Given the description of an element on the screen output the (x, y) to click on. 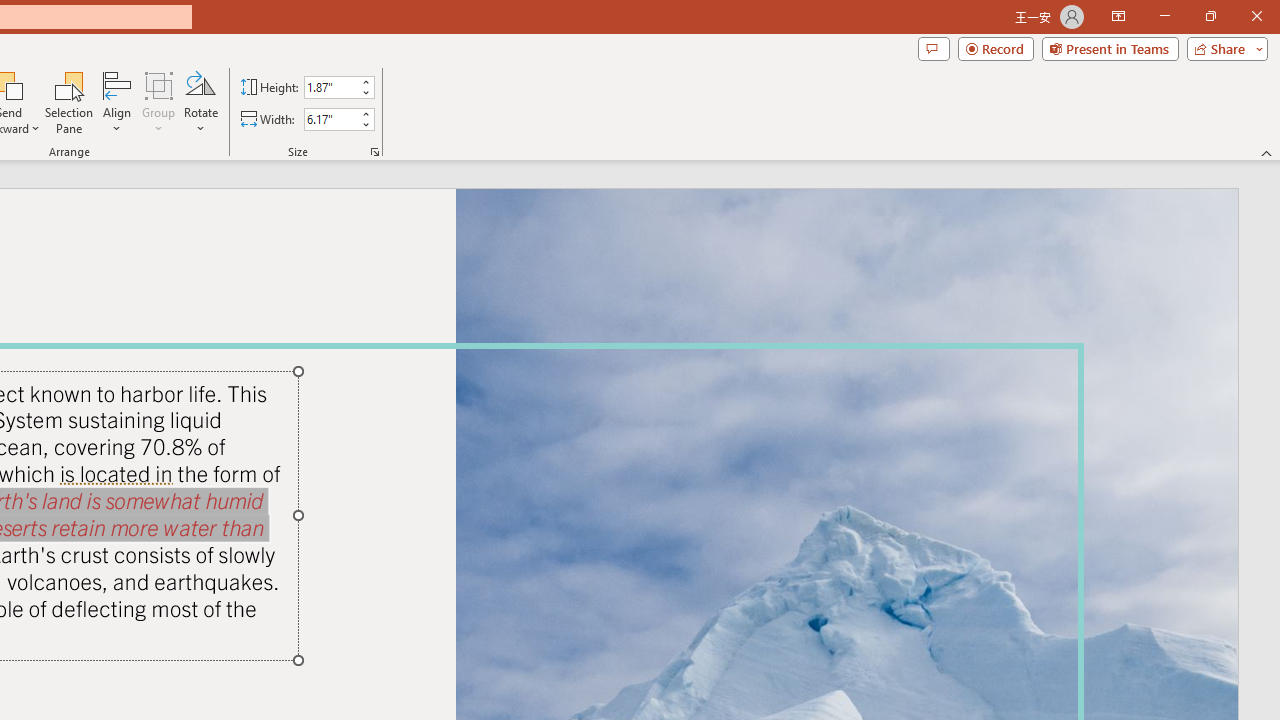
Rotate (200, 102)
Group (159, 102)
Shape Height (330, 87)
Comments (933, 48)
